Given the description of an element on the screen output the (x, y) to click on. 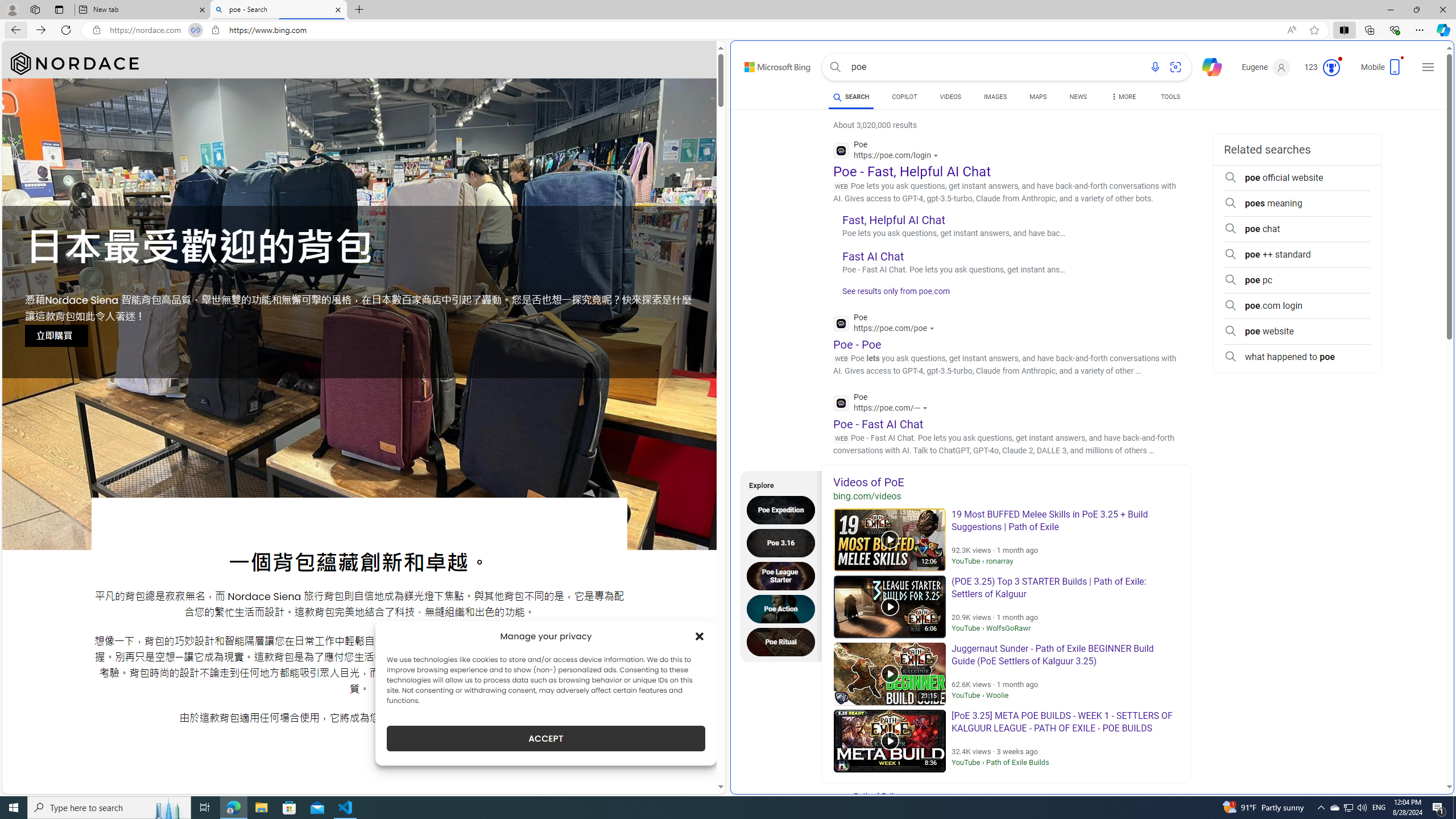
Path of Exile (912, 803)
NEWS (1078, 98)
Chat (1207, 65)
Poe - Poe (856, 344)
Explore (777, 483)
Class: cmplz-close (699, 636)
Forward (40, 29)
IMAGES (995, 96)
ACCEPT (545, 738)
Global web icon (841, 402)
